Given the description of an element on the screen output the (x, y) to click on. 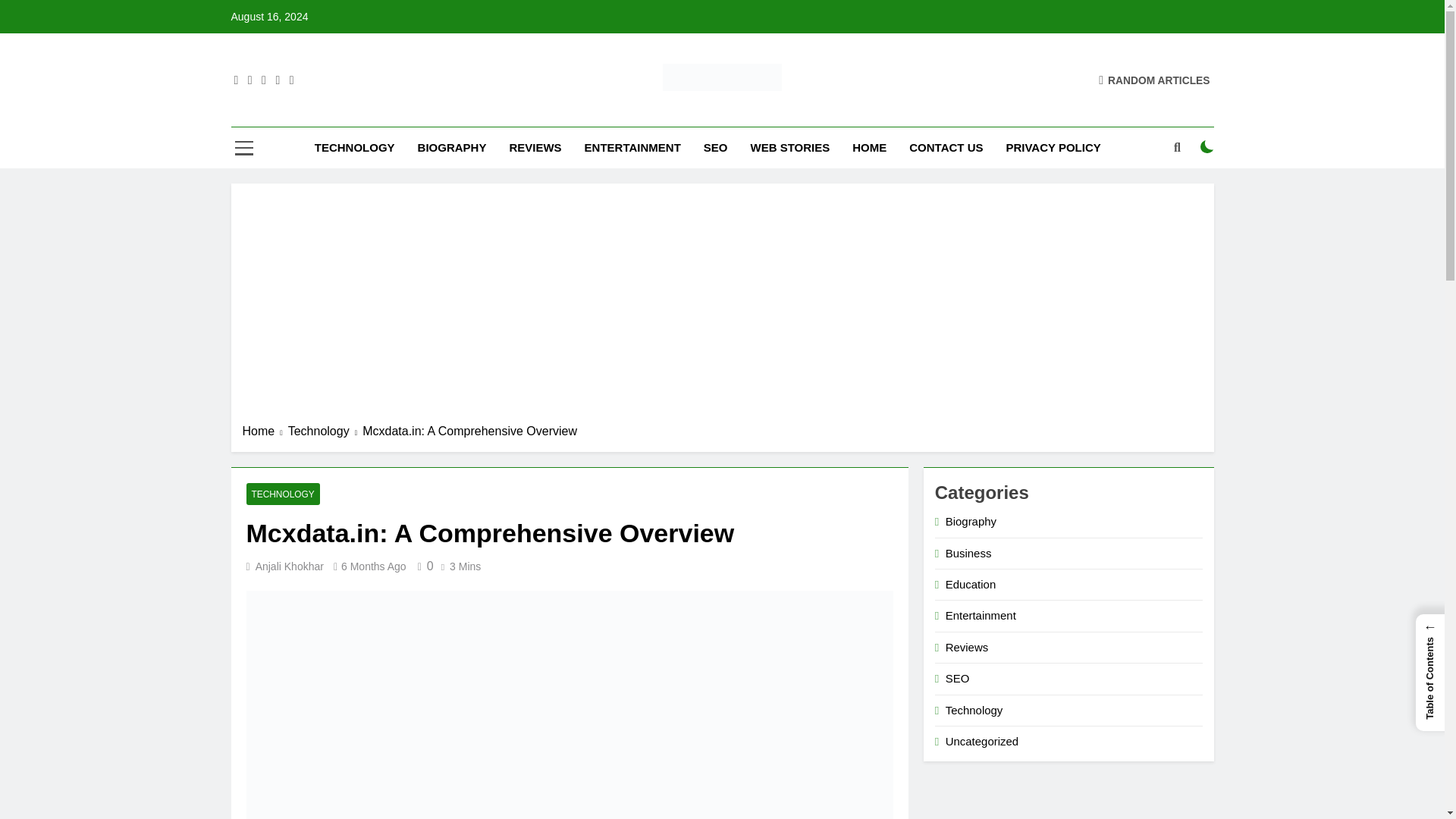
BIOGRAPHY (451, 147)
Blogg (522, 112)
TECHNOLOGY (354, 147)
ENTERTAINMENT (633, 147)
REVIEWS (534, 147)
Home (265, 431)
CONTACT US (946, 147)
RANDOM ARTICLES (1154, 79)
WEB STORIES (789, 147)
